Given the description of an element on the screen output the (x, y) to click on. 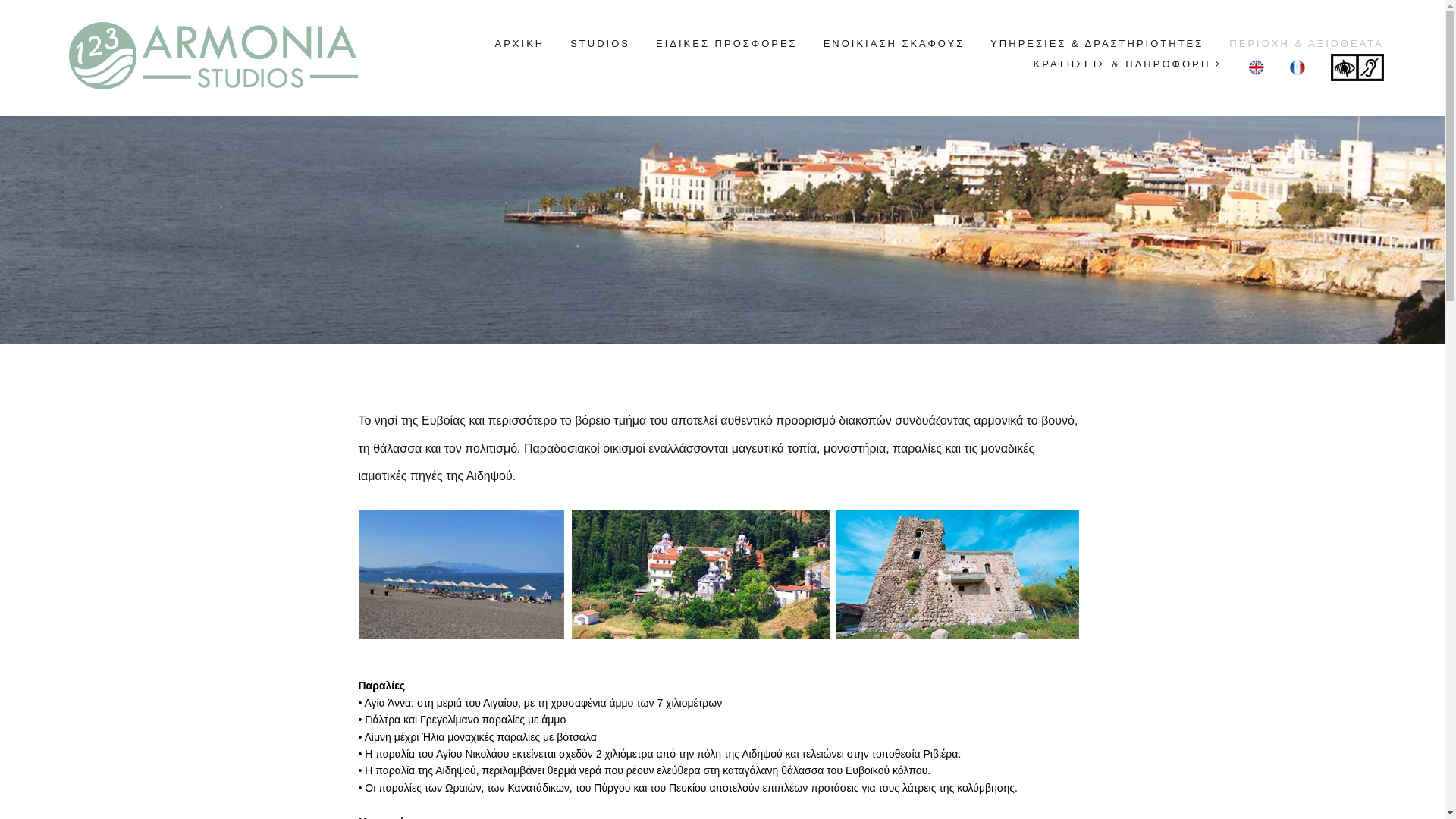
STUDIOS Element type: text (600, 43)
